Given the description of an element on the screen output the (x, y) to click on. 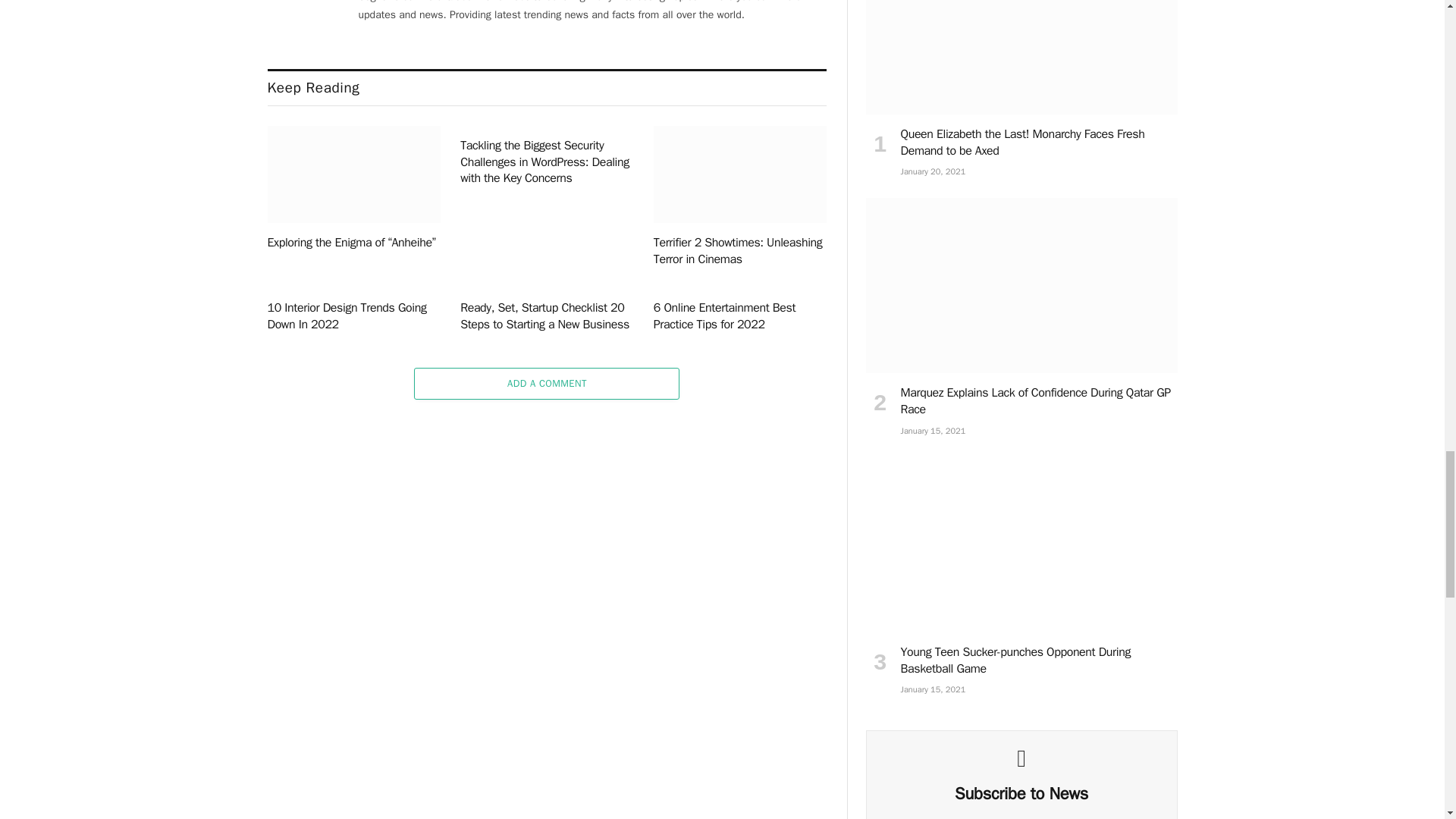
Terrifier 2 Showtimes: Unleashing Terror in Cinemas (740, 174)
